Given the description of an element on the screen output the (x, y) to click on. 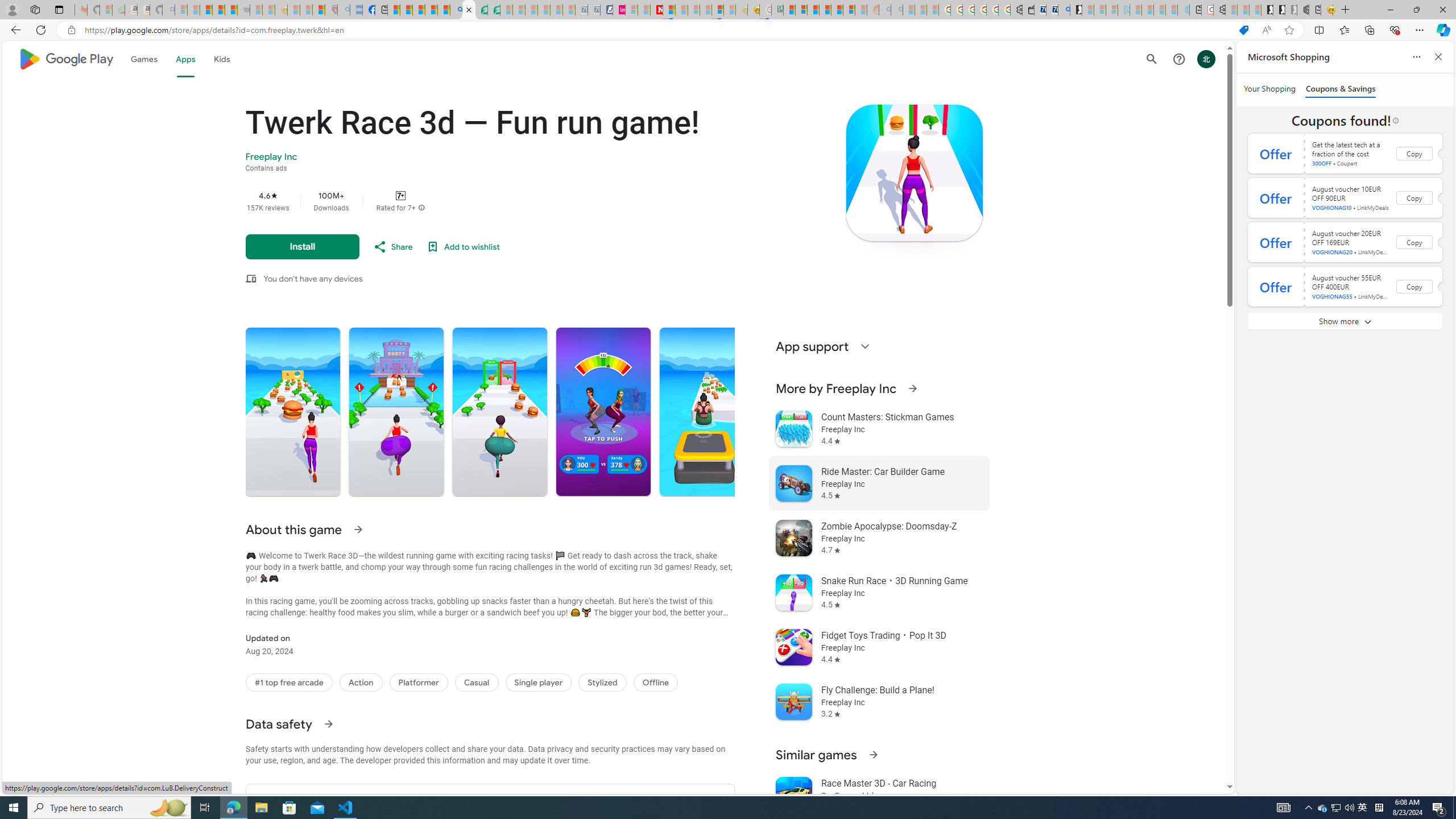
Local - MSN (318, 9)
Apps (185, 58)
See more information on Data safety (328, 723)
